Given the description of an element on the screen output the (x, y) to click on. 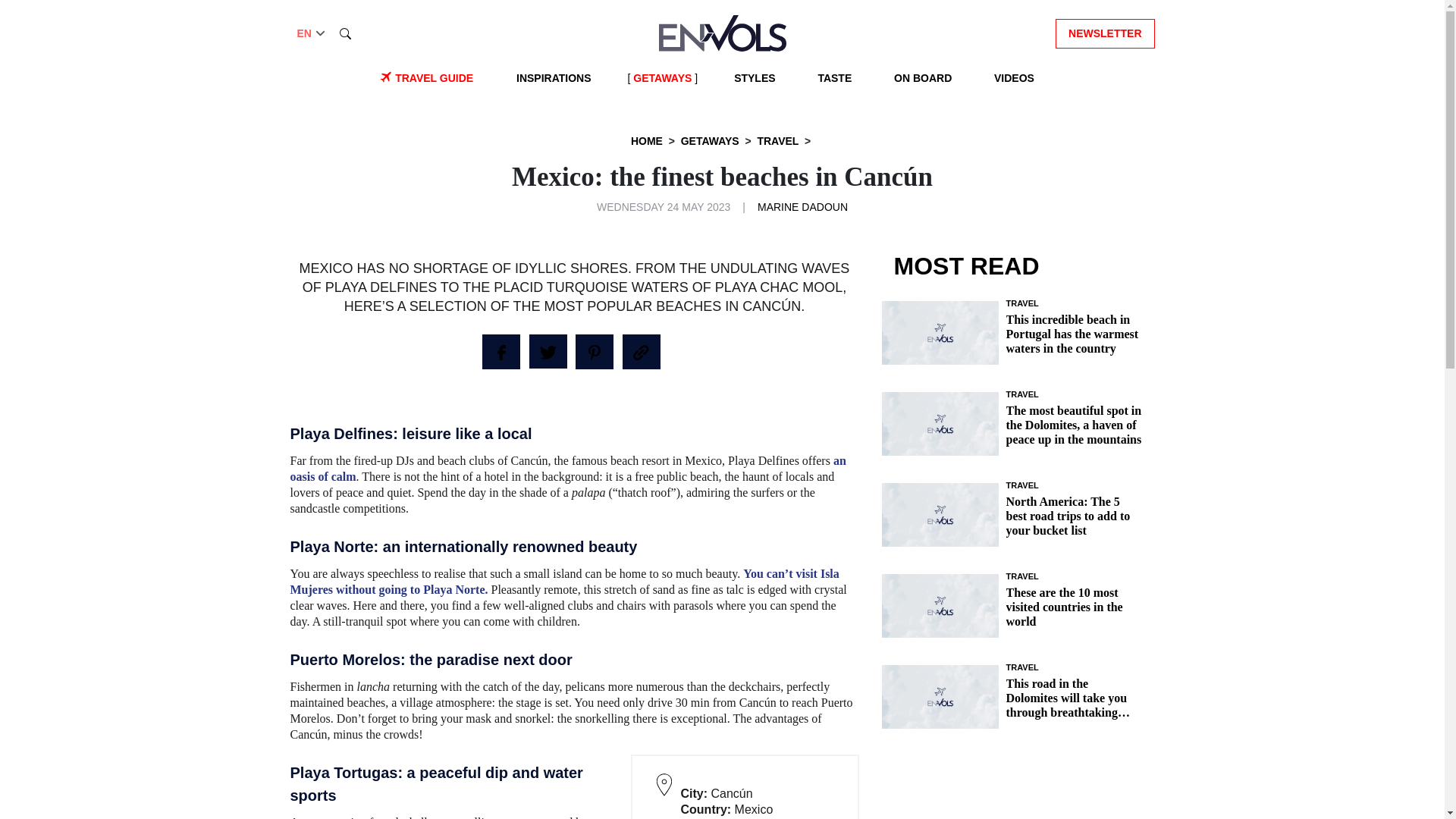
TASTE (833, 78)
TRAVEL GUIDE (433, 78)
GETAWAYS (662, 78)
VIDEOS (1014, 78)
EN (311, 33)
ON BOARD (923, 78)
INSPIRATIONS (553, 78)
NEWSLETTER (1104, 32)
STYLES (754, 78)
